Given the description of an element on the screen output the (x, y) to click on. 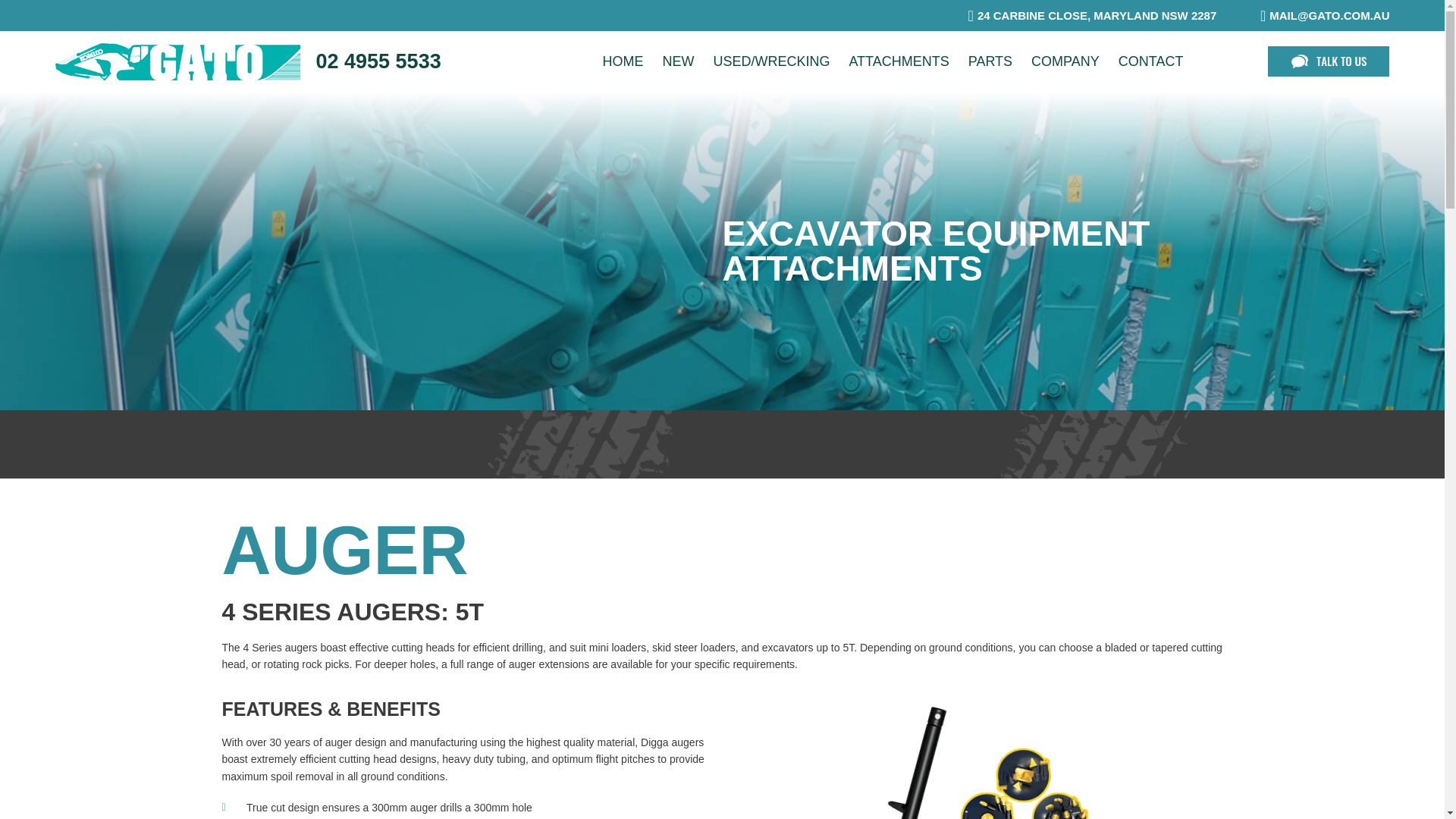
02 4955 5533 (378, 60)
PARTS (989, 61)
CONTACT (1151, 61)
HOME (622, 61)
digga-auger-4-series (976, 759)
COMPANY (1065, 61)
24 CARBINE CLOSE, MARYLAND NSW 2287 (1085, 15)
ATTACHMENTS (898, 61)
NEW (677, 61)
